Given the description of an element on the screen output the (x, y) to click on. 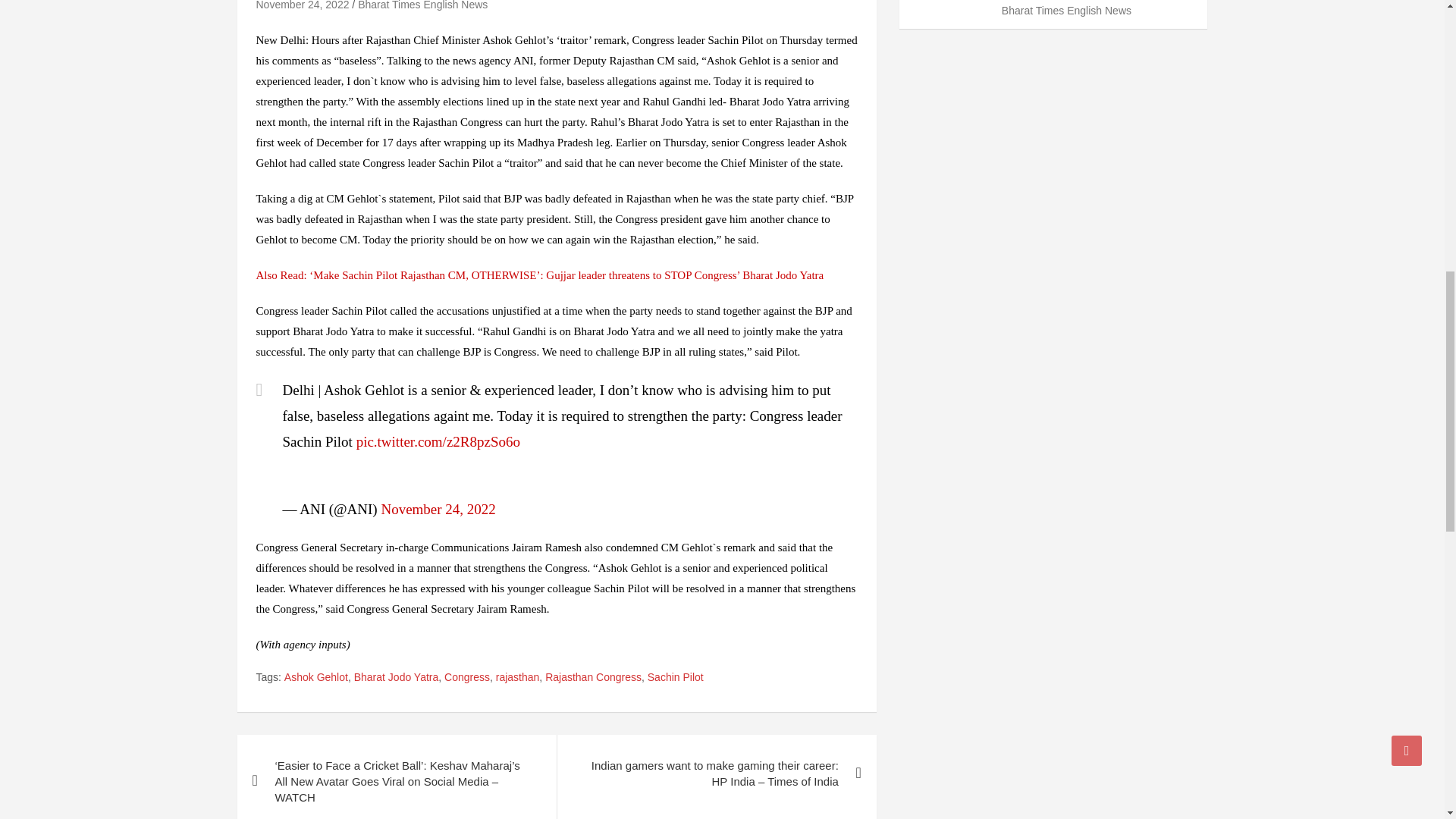
November 24, 2022 (437, 508)
November 24, 2022 (302, 5)
Bharat Times English News (422, 5)
Ashok Gehlot (315, 677)
Congress (466, 677)
Bharat Jodo Yatra (396, 677)
Sachin Pilot (675, 677)
rajasthan (518, 677)
Rajasthan Congress (593, 677)
